Given the description of an element on the screen output the (x, y) to click on. 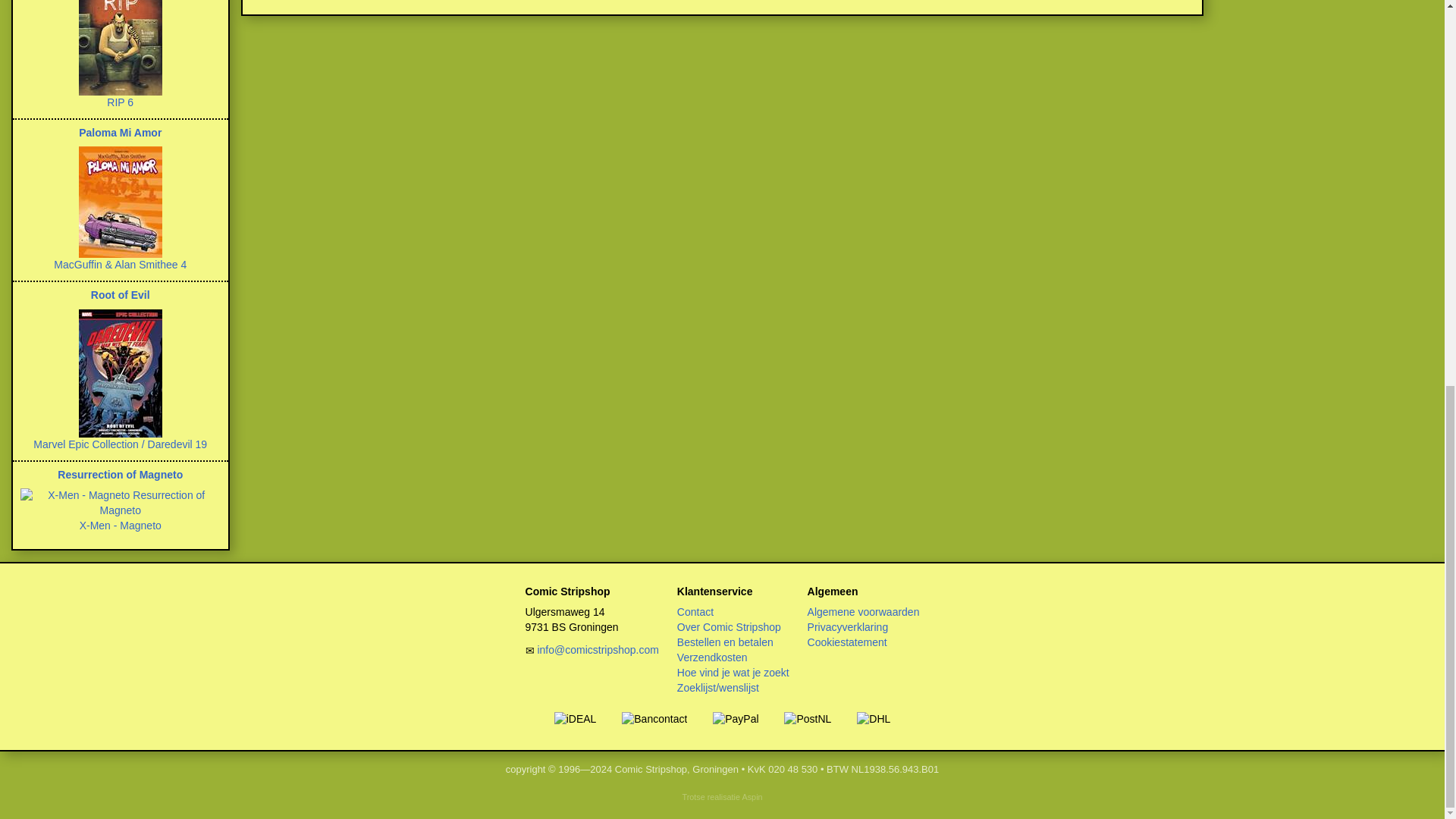
DHL (873, 719)
PayPal (735, 719)
Bancontact (654, 719)
PostNL (807, 719)
iDEAL (575, 719)
